Given the description of an element on the screen output the (x, y) to click on. 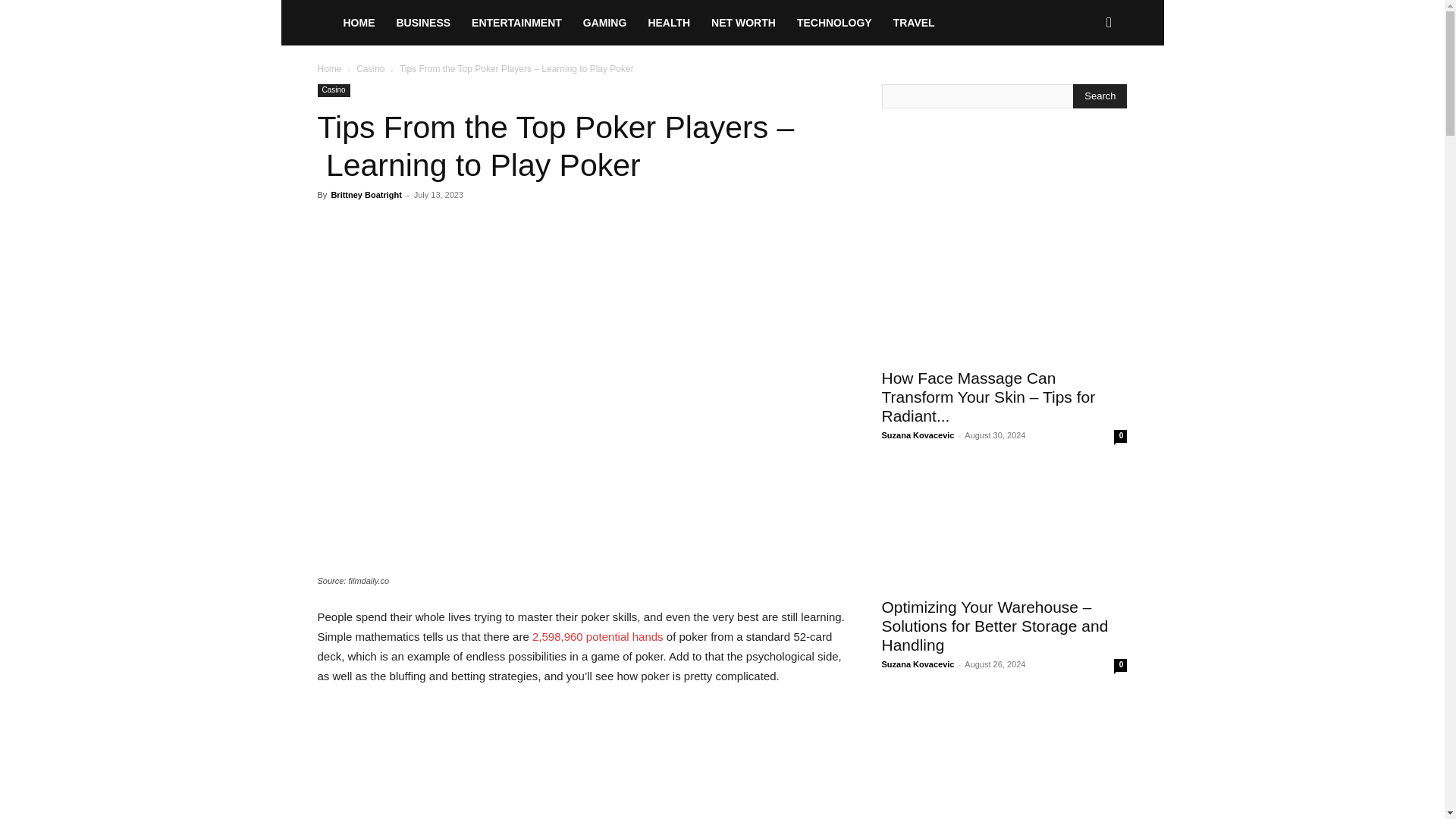
NET WORTH (743, 22)
TECHNOLOGY (834, 22)
Search (1099, 96)
HEALTH (668, 22)
2,598,960 potential hands (597, 635)
Search (1085, 87)
HOME (358, 22)
View all posts in Casino (370, 68)
Casino (370, 68)
BUSINESS (423, 22)
